Given the description of an element on the screen output the (x, y) to click on. 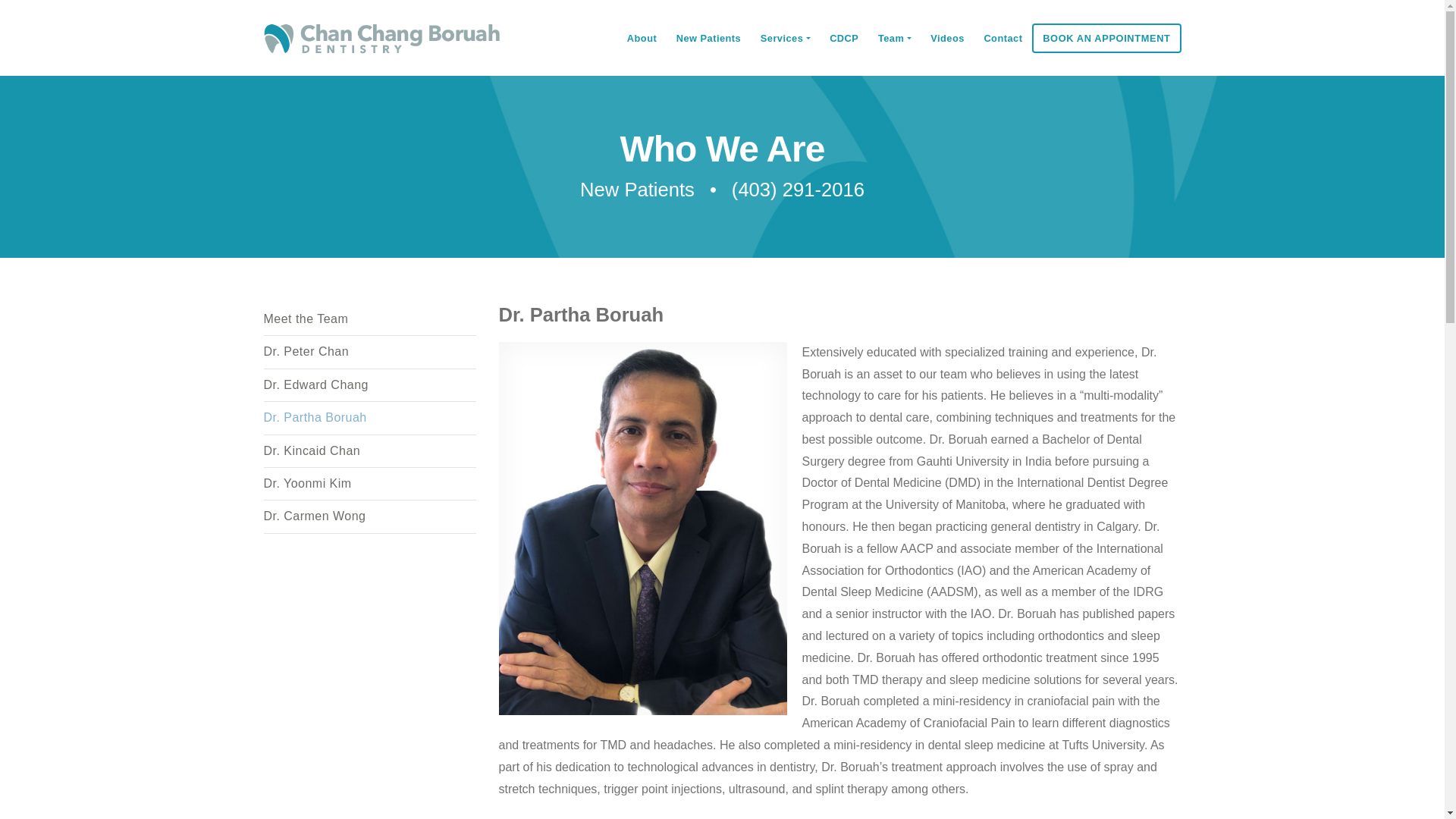
About (641, 37)
Contact (1003, 37)
New Patients (636, 189)
Videos (947, 37)
Team (893, 37)
CDCP (843, 37)
Dr. Peter Chan (369, 351)
Services (785, 37)
Meet the Team (369, 319)
